Given the description of an element on the screen output the (x, y) to click on. 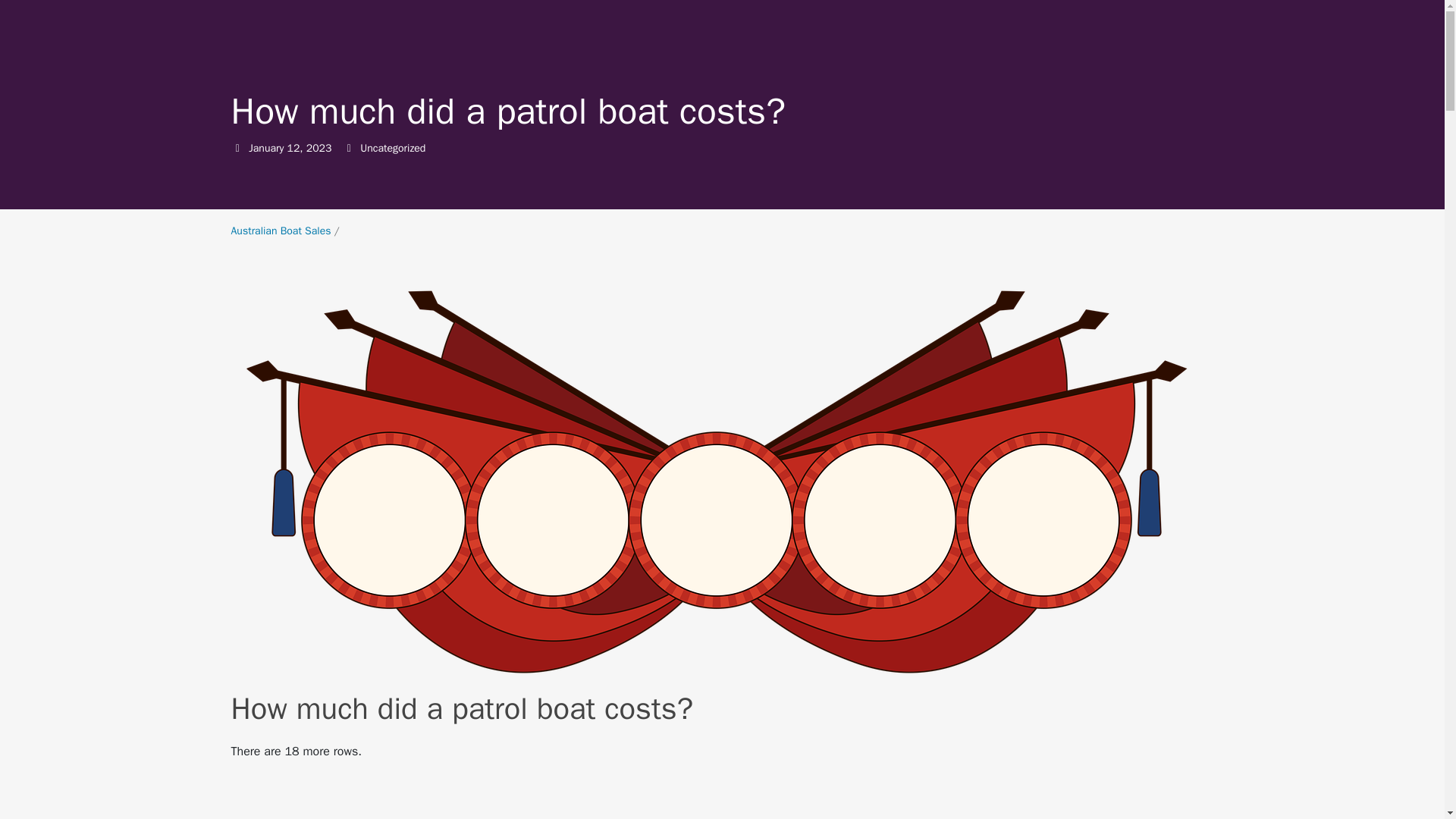
2023 (318, 147)
12 (292, 147)
January (280, 230)
